Given the description of an element on the screen output the (x, y) to click on. 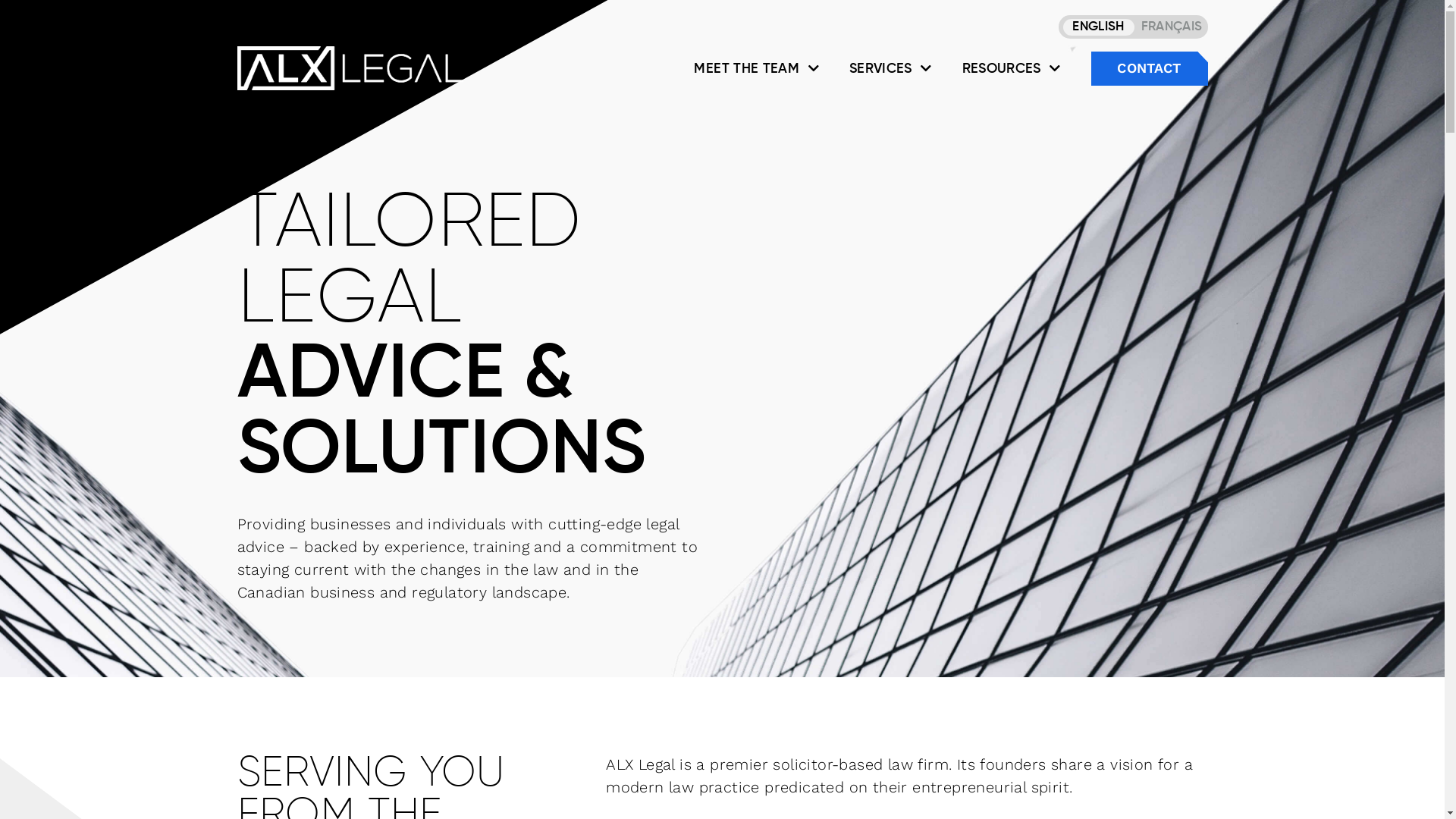
RESOURCES Element type: text (1011, 68)
MEET THE TEAM Element type: text (755, 68)
CONTACT Element type: text (1148, 68)
ENGLISH Element type: text (1098, 26)
SERVICES Element type: text (890, 68)
